Given the description of an element on the screen output the (x, y) to click on. 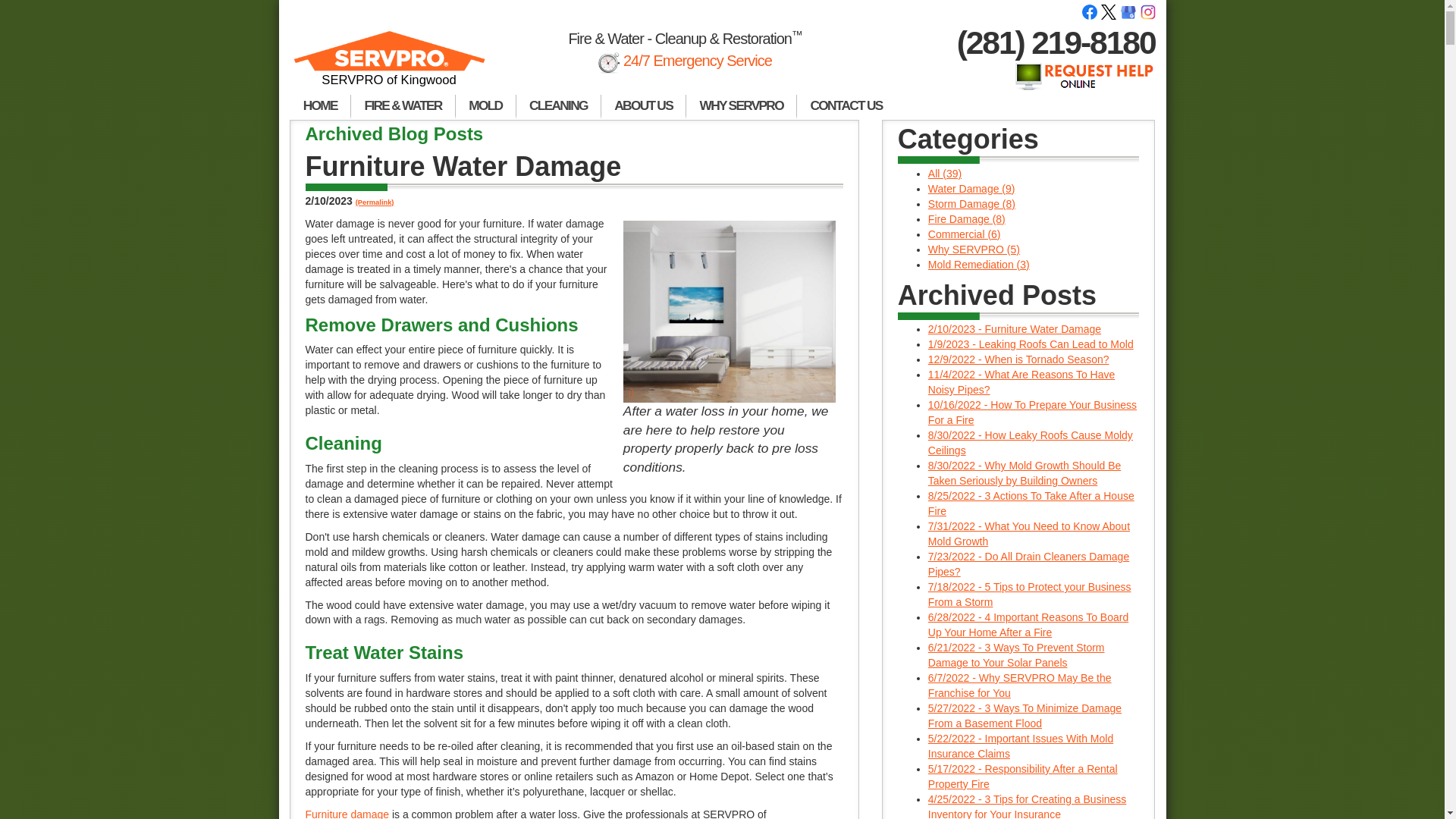
SERVPRO of Kingwood (389, 64)
CLEANING (558, 106)
MOLD (485, 106)
ABOUT US (643, 106)
HOME (319, 106)
